Given the description of an element on the screen output the (x, y) to click on. 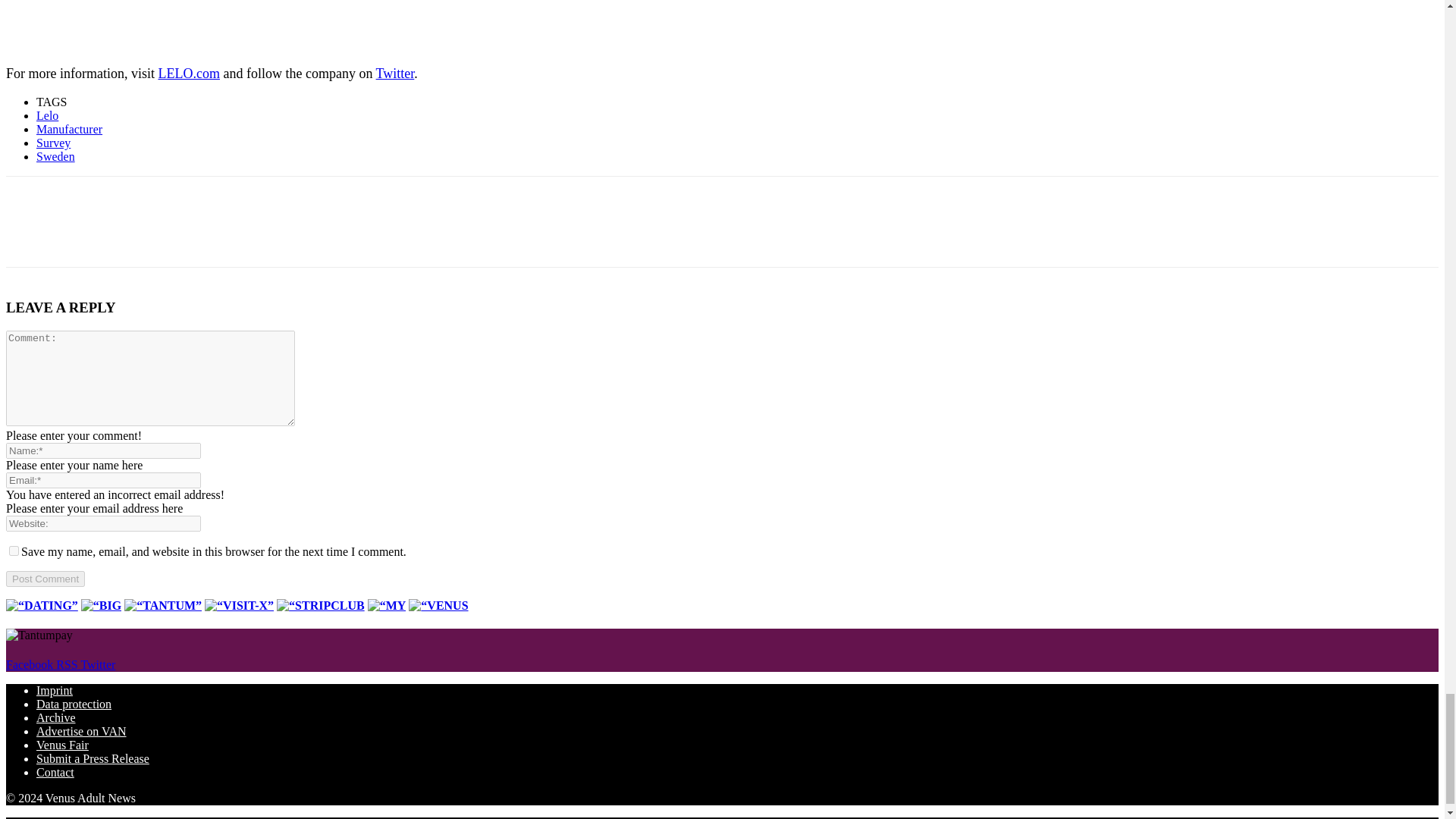
yes (13, 551)
Post Comment (44, 578)
